Given the description of an element on the screen output the (x, y) to click on. 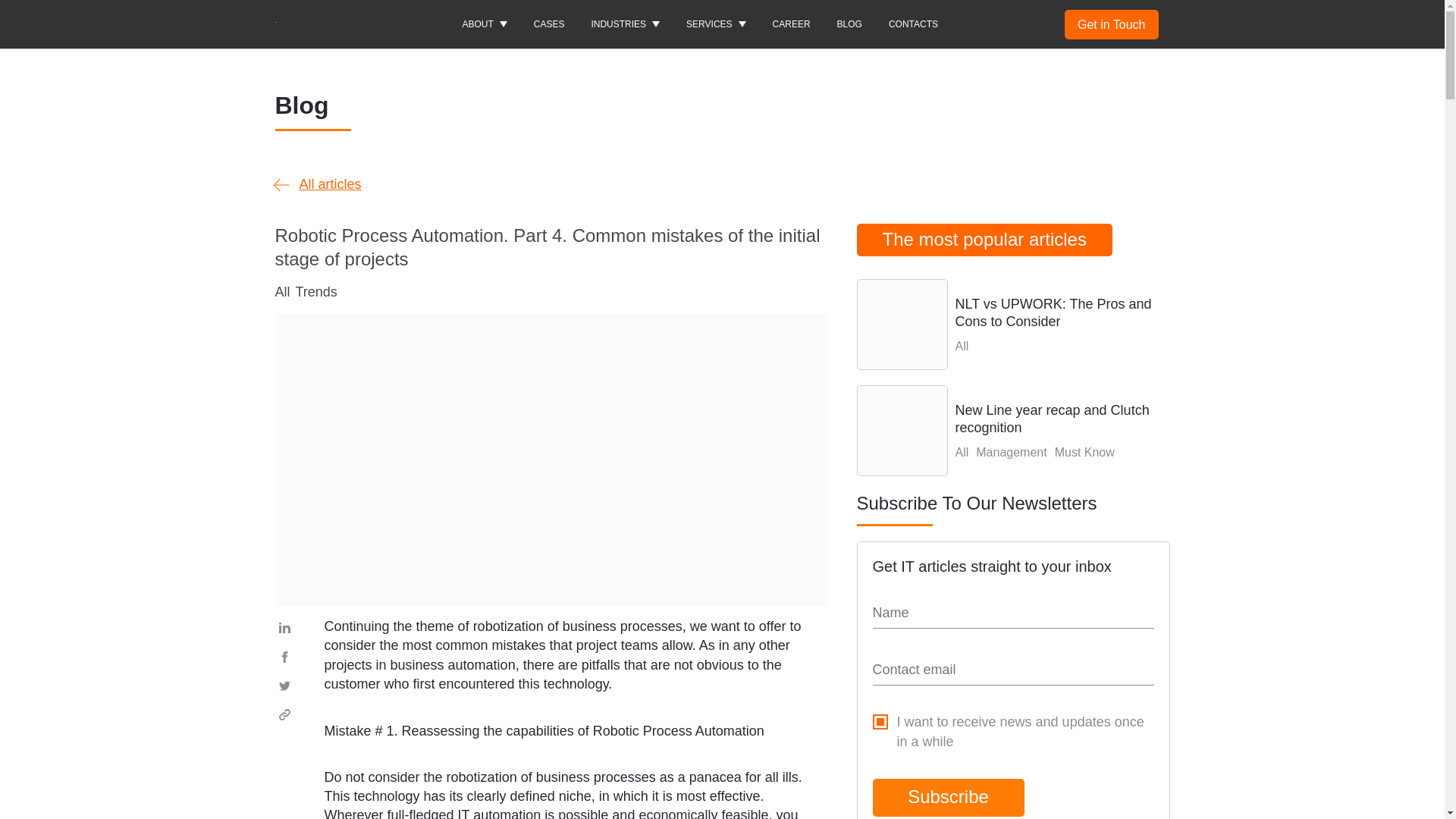
Subscribe (947, 796)
NLT vs UPWORK: The Pros and Cons to Consider (1013, 324)
Copy Link (284, 713)
SERVICES (715, 24)
Facebook (284, 655)
All articles (318, 184)
Subscribe (947, 796)
Linkedin (284, 627)
Trends (316, 291)
The most popular articles (984, 239)
